Given the description of an element on the screen output the (x, y) to click on. 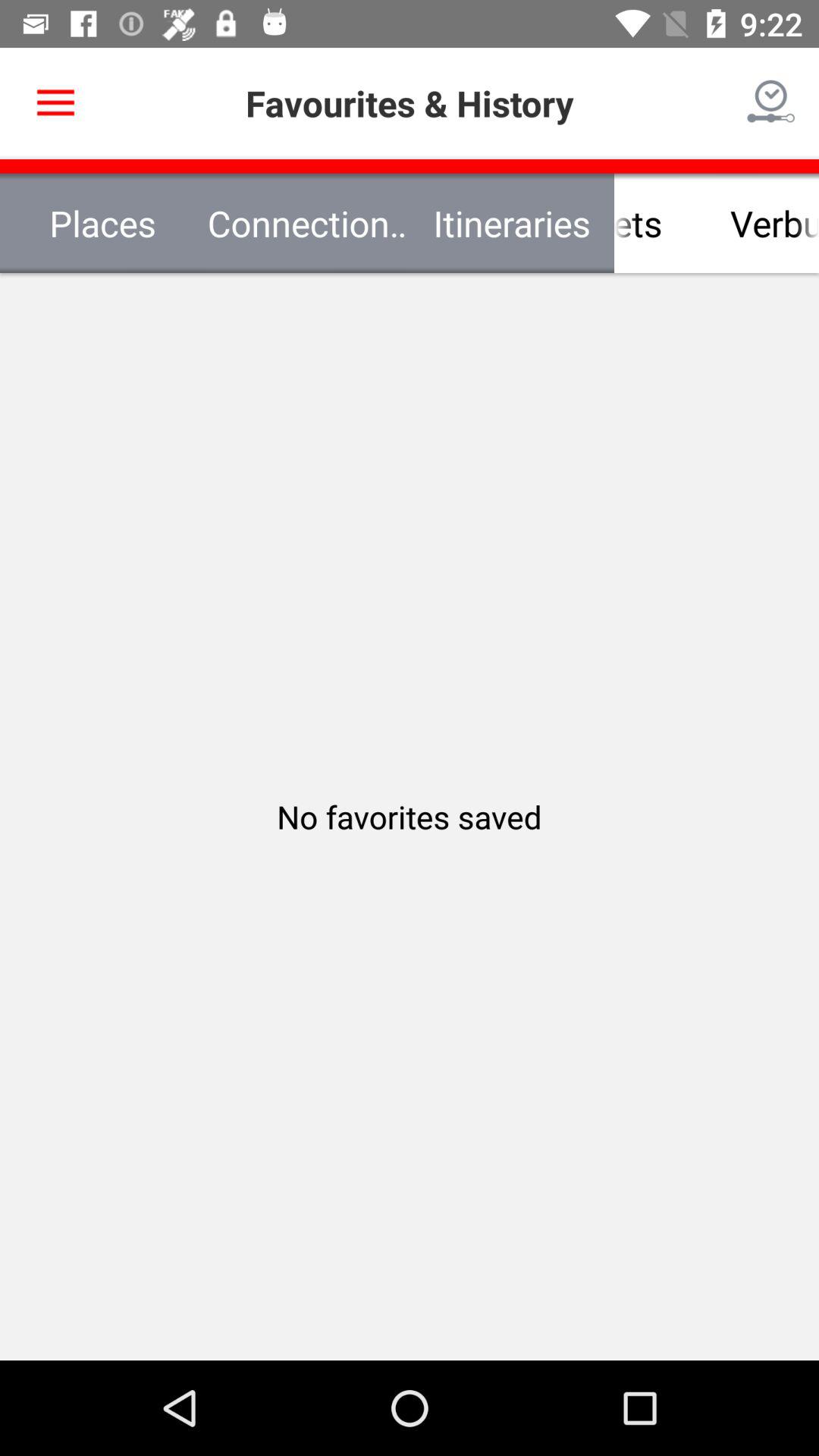
select the icon to the right of connection requests item (614, 223)
